Given the description of an element on the screen output the (x, y) to click on. 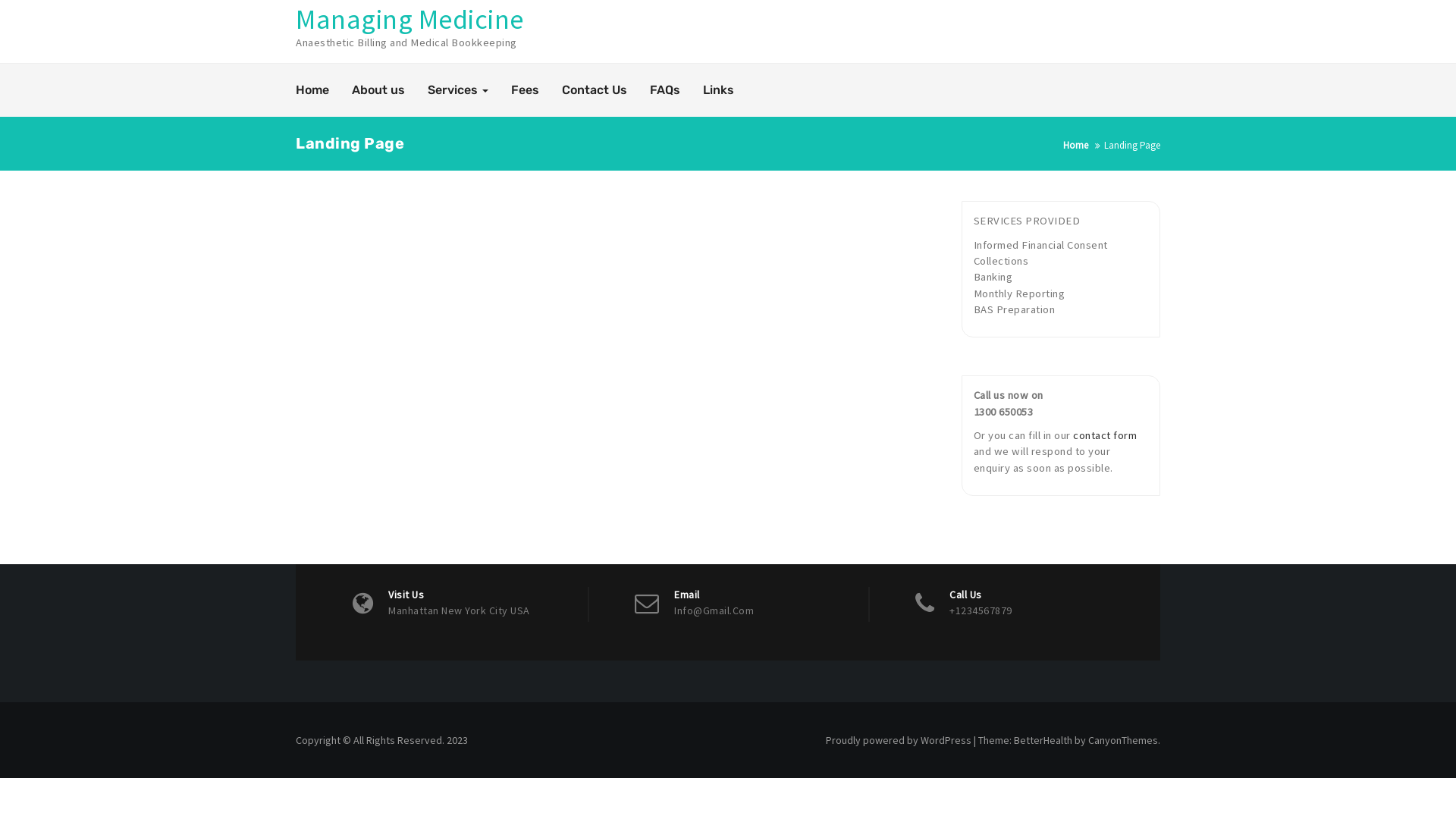
FAQs Element type: text (664, 90)
Fees Element type: text (524, 90)
Managing Medicine Element type: text (409, 19)
Skip to content Element type: text (0, 0)
Links Element type: text (718, 90)
CanyonThemes Element type: text (1122, 739)
Home Element type: text (312, 90)
Contact Us Element type: text (594, 90)
Services Element type: text (457, 90)
contact form Element type: text (1104, 435)
Proudly powered by WordPress Element type: text (898, 739)
Home Element type: text (1075, 144)
About us Element type: text (378, 90)
